Given the description of an element on the screen output the (x, y) to click on. 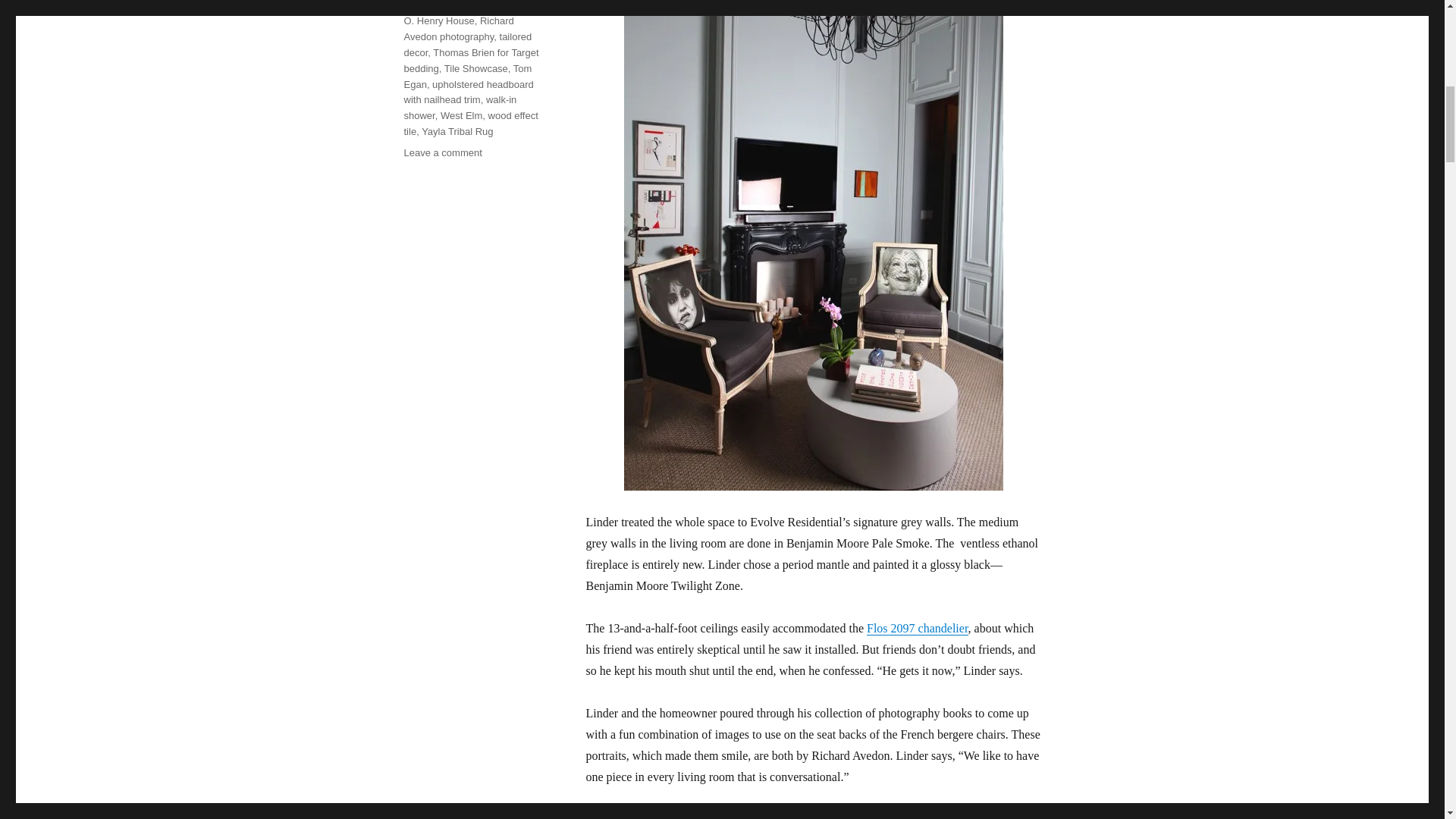
Flos 2097 chandelier (917, 627)
